Given the description of an element on the screen output the (x, y) to click on. 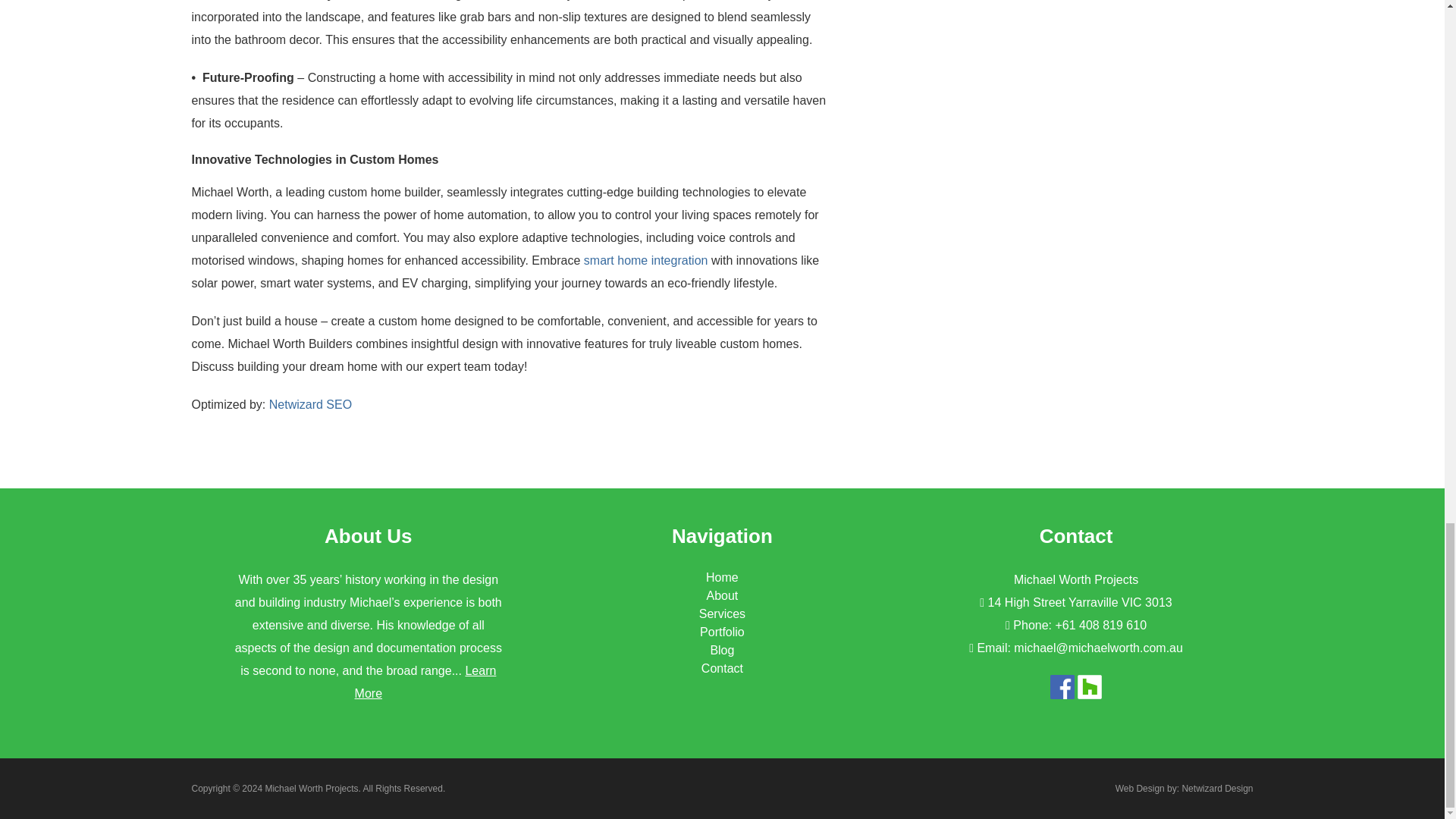
Home (722, 576)
Portfolio (722, 631)
Learn More (425, 682)
Contact (721, 667)
Netwizard Design (1216, 787)
Services (721, 613)
About (722, 594)
Netwizard SEO (310, 404)
smart home integration (645, 259)
Blog (721, 649)
